Given the description of an element on the screen output the (x, y) to click on. 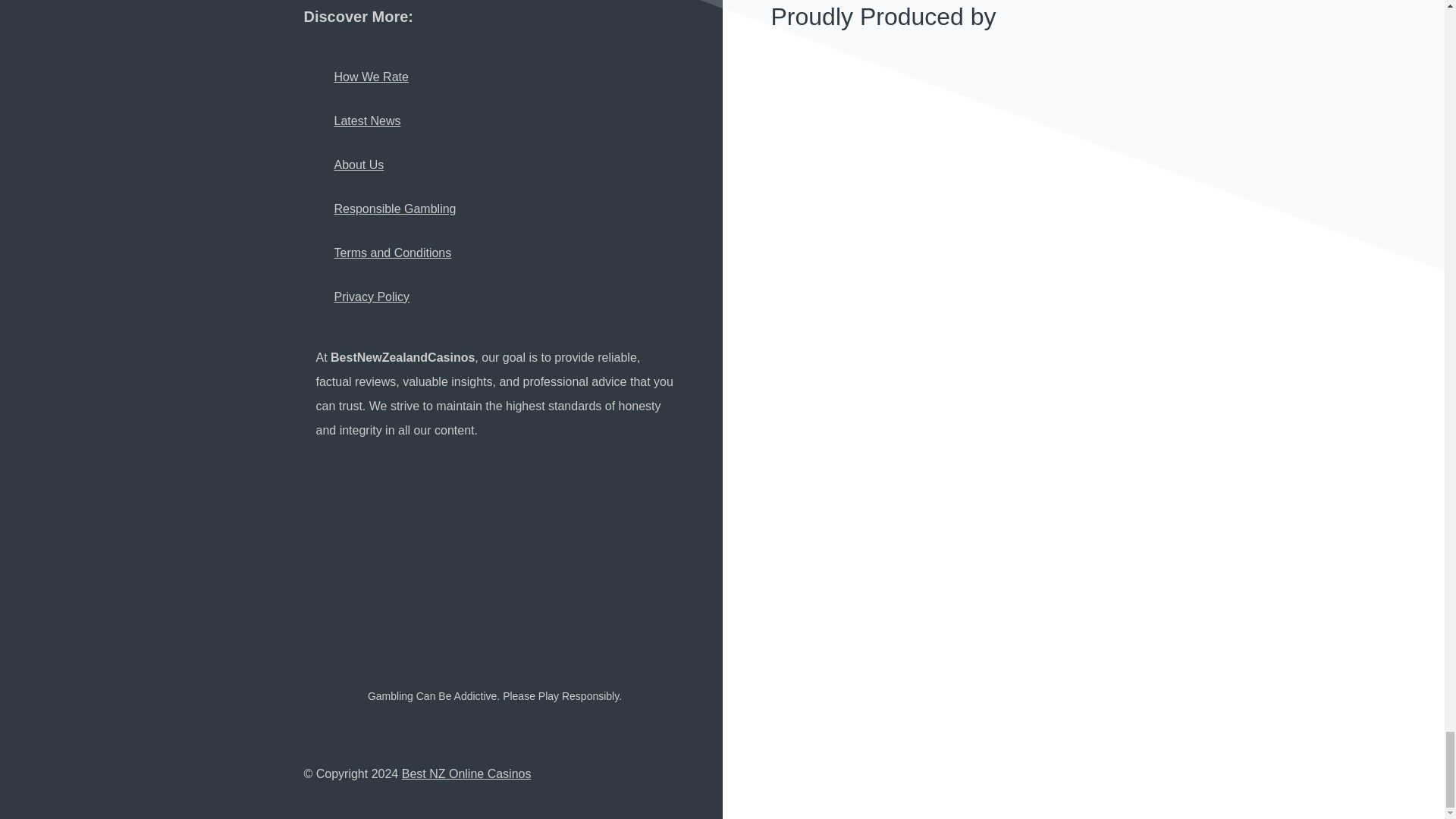
DMCA.com Protection Status (483, 604)
